Given the description of an element on the screen output the (x, y) to click on. 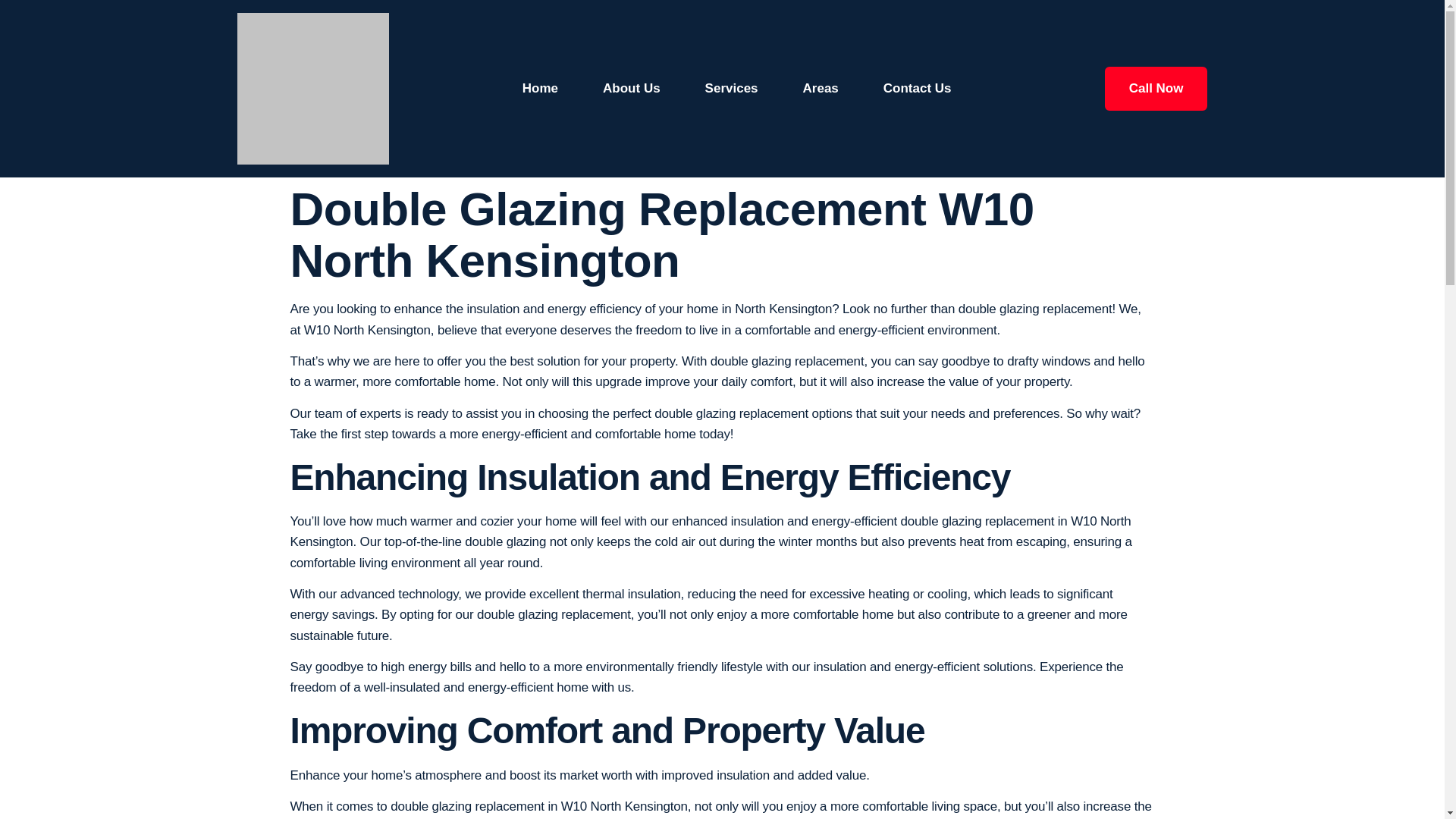
Home (540, 88)
About Us (631, 88)
Areas (821, 88)
Services (731, 88)
